Given the description of an element on the screen output the (x, y) to click on. 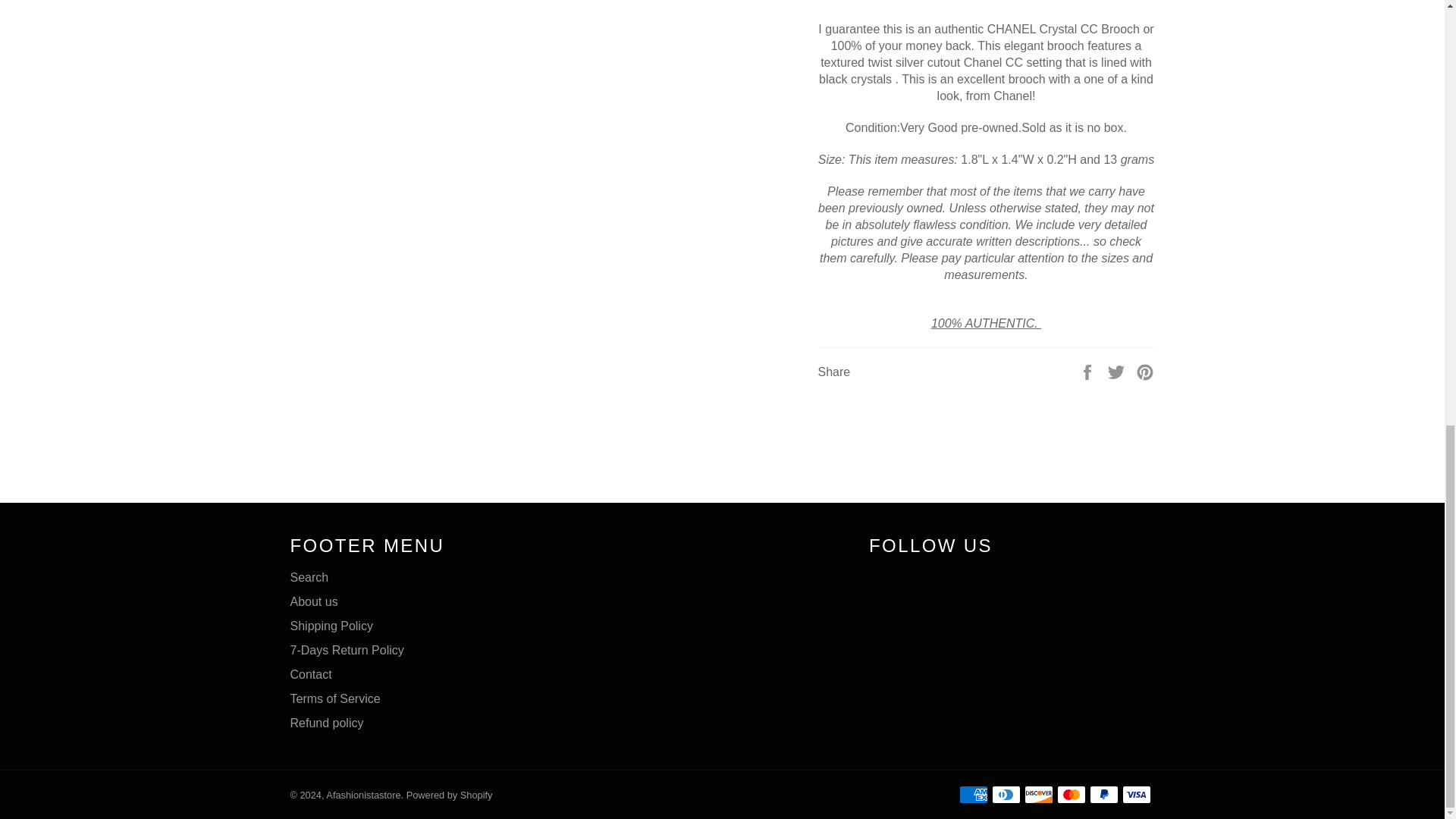
Pin on Pinterest (1144, 370)
Tweet on Twitter (1117, 370)
Share on Facebook (1088, 370)
